Given the description of an element on the screen output the (x, y) to click on. 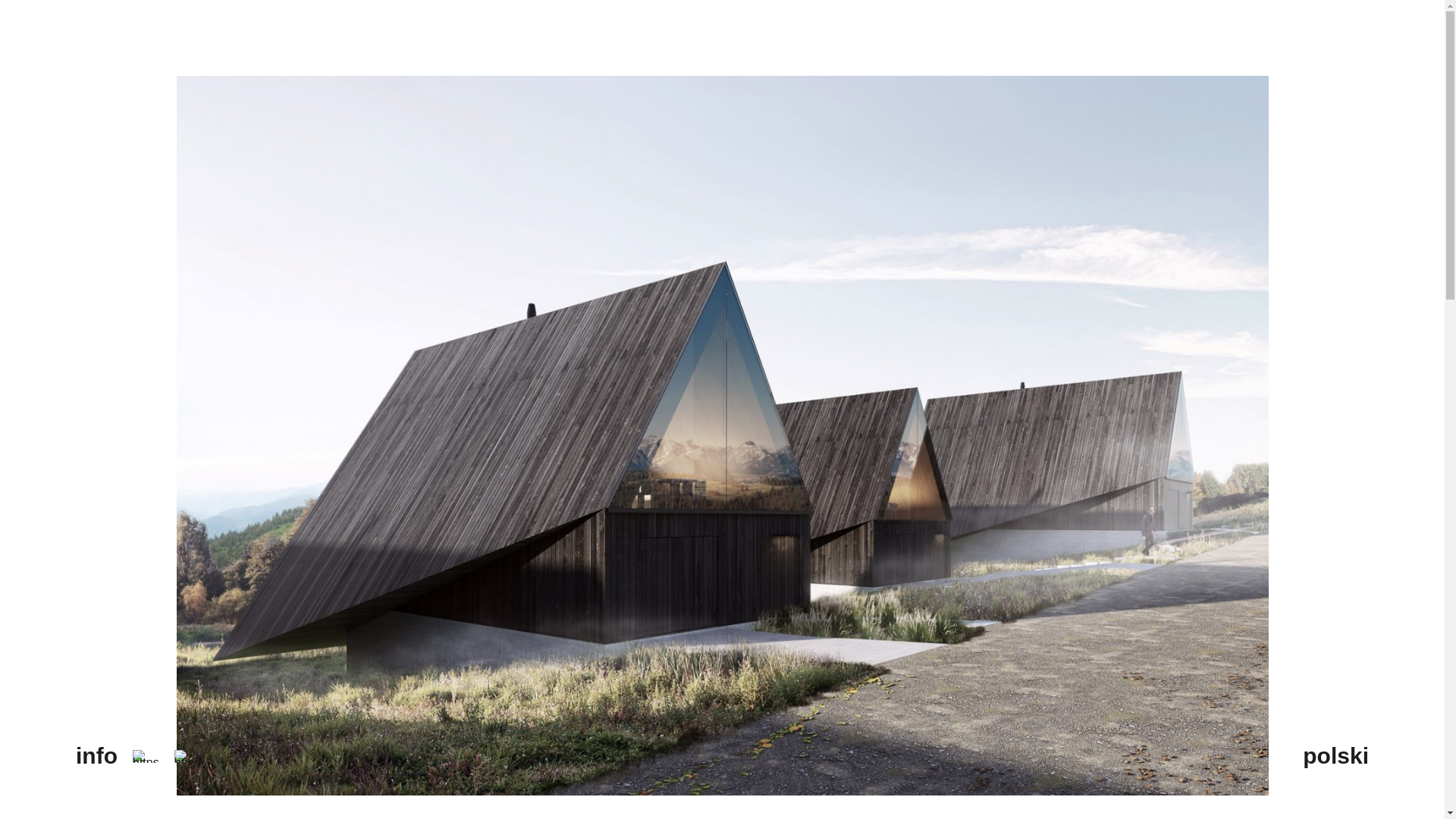
polski (1335, 755)
info (96, 755)
polski (1335, 755)
